Given the description of an element on the screen output the (x, y) to click on. 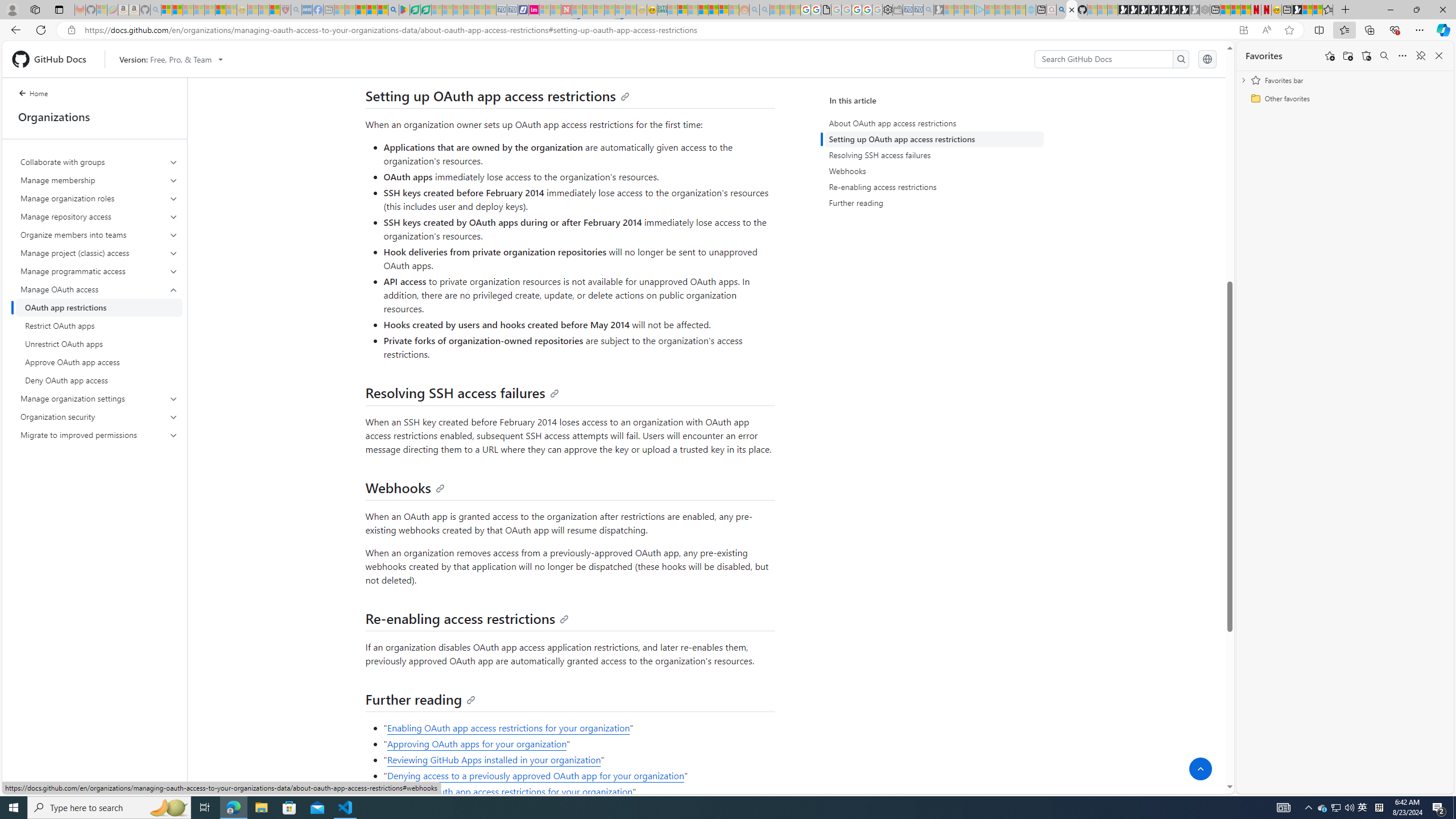
Select language: current language is English (1207, 58)
Microsoft Word - consumer-privacy address update 2.2021 (426, 9)
Manage organization roles (99, 198)
Restrict OAuth apps (99, 325)
